Given the description of an element on the screen output the (x, y) to click on. 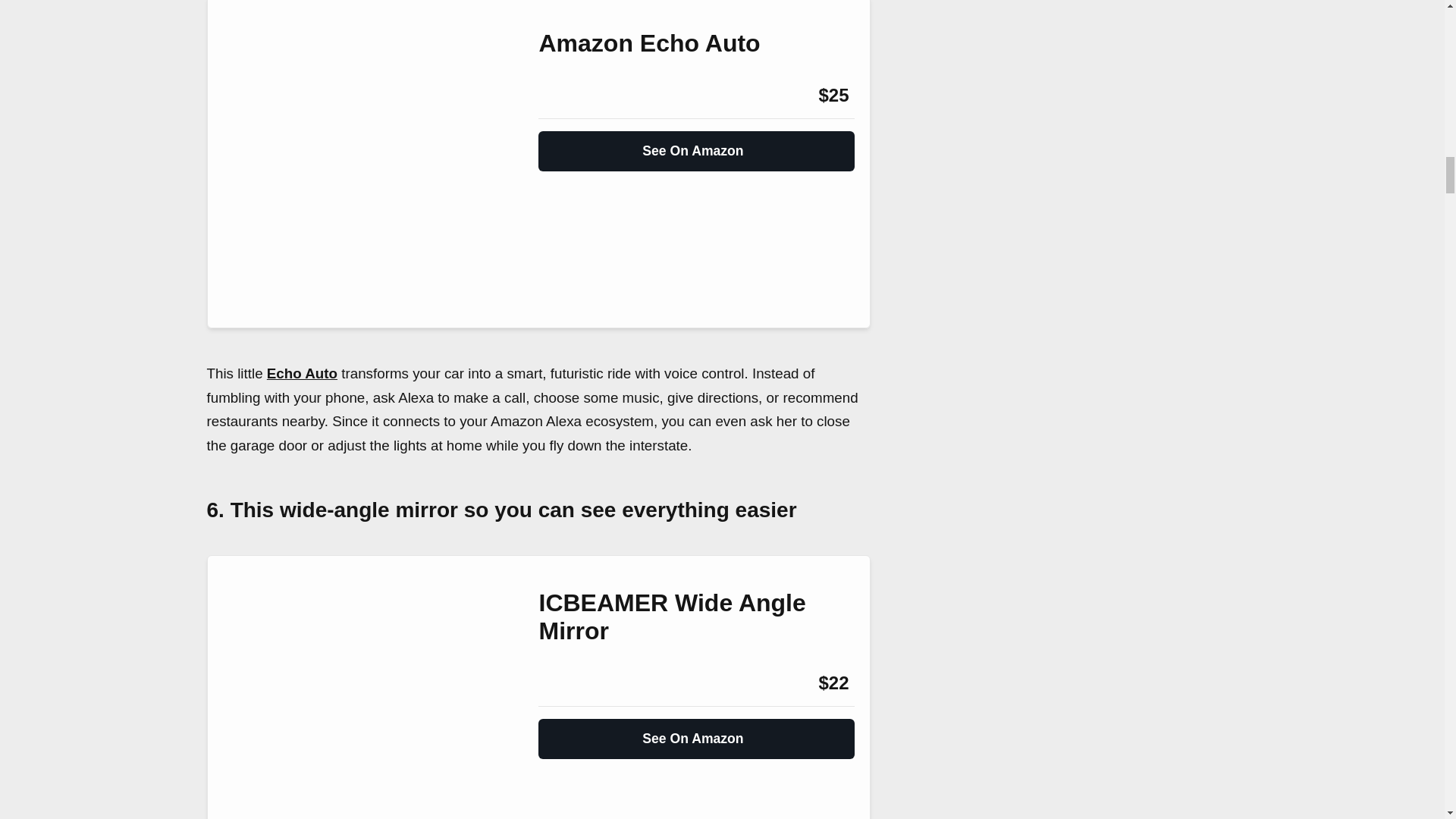
See On Amazon (696, 732)
See On Amazon (696, 144)
Amazon (579, 95)
Echo Auto (301, 373)
Amazon (579, 683)
